Given the description of an element on the screen output the (x, y) to click on. 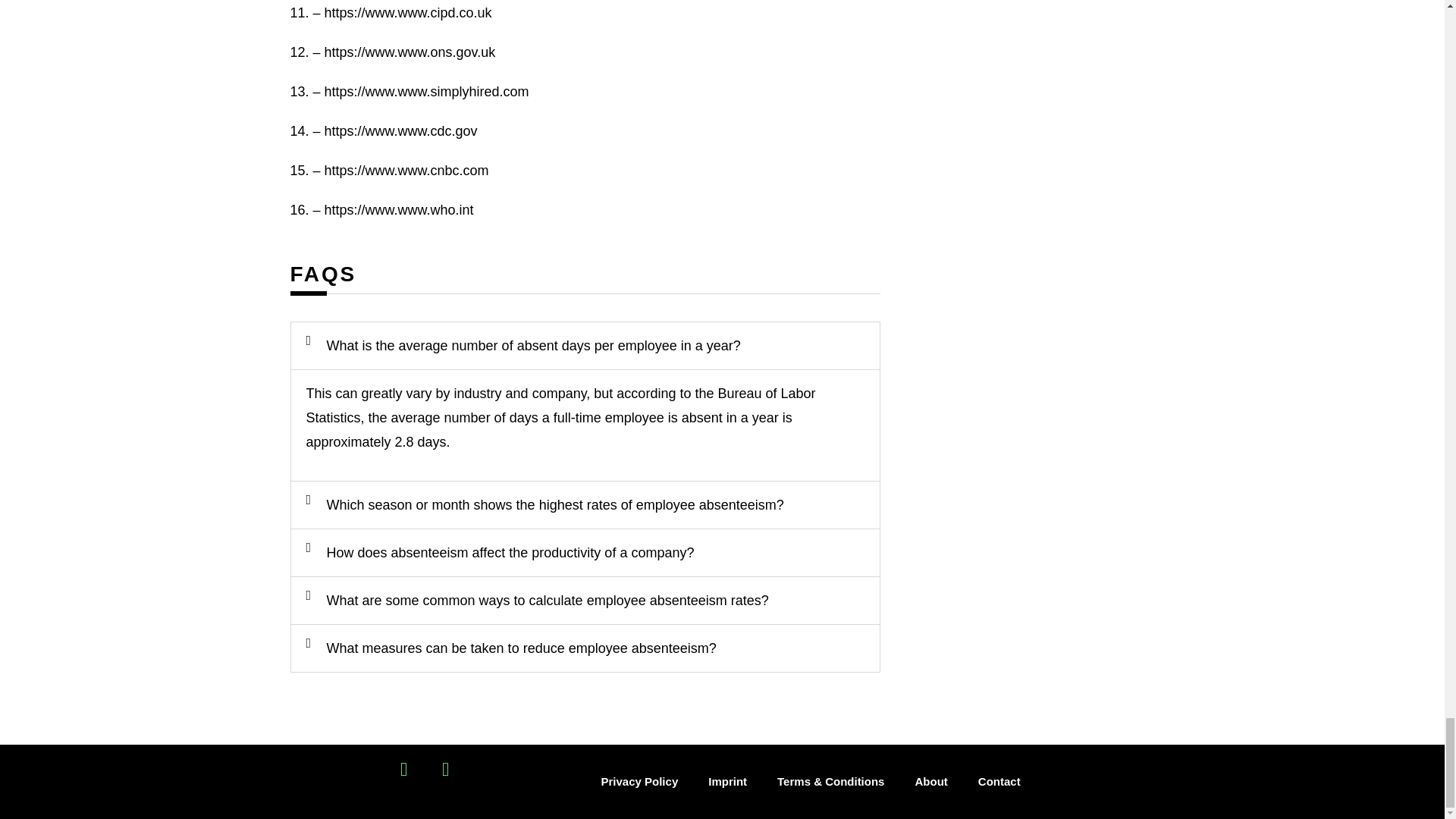
Privacy Policy (639, 781)
Imprint (727, 781)
How does absenteeism affect the productivity of a company? (510, 552)
Contact (998, 781)
About (930, 781)
What measures can be taken to reduce employee absenteeism? (521, 648)
